Given the description of an element on the screen output the (x, y) to click on. 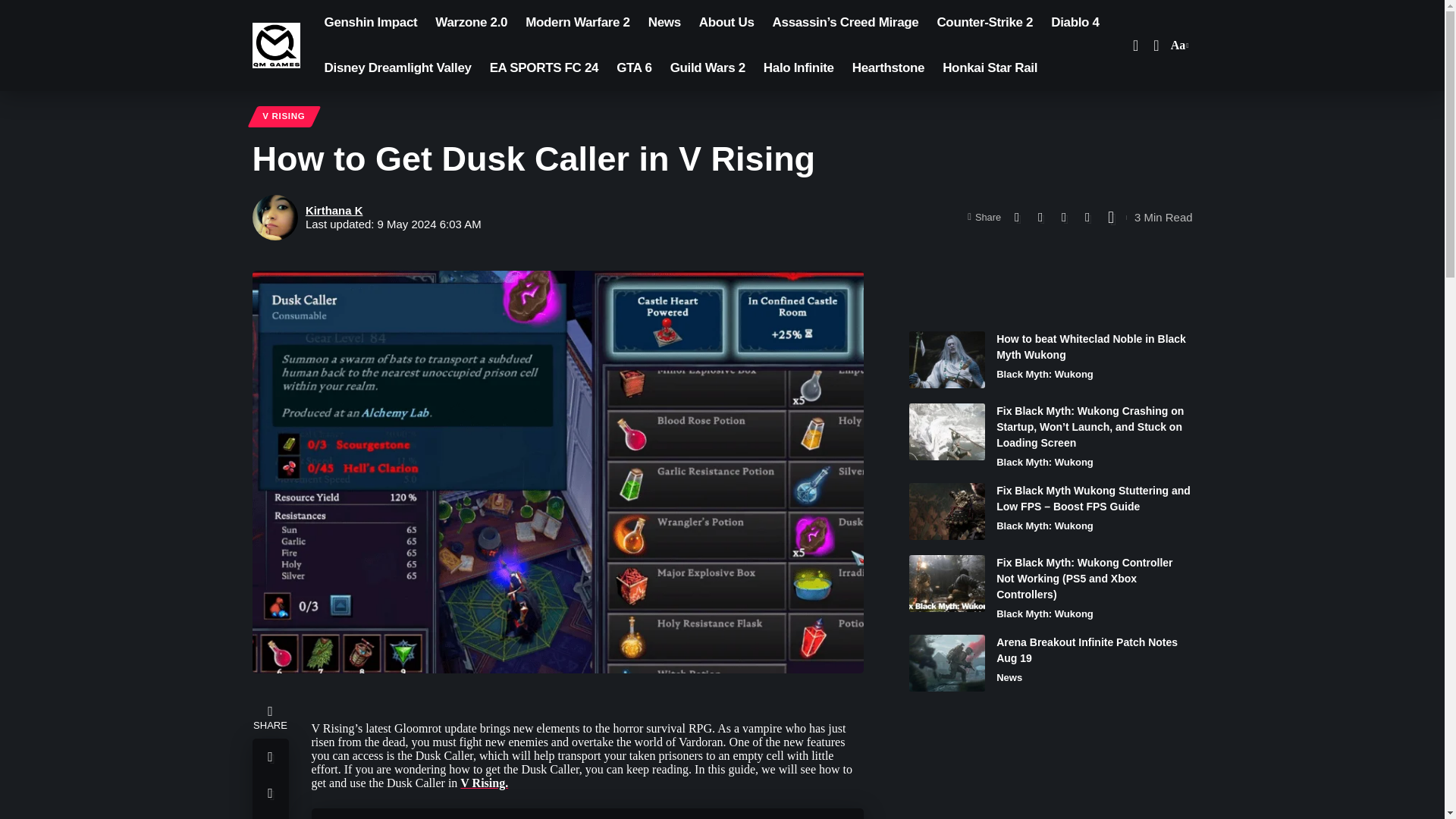
Diablo 4 (1178, 45)
Hearthstone (1075, 22)
Honkai Star Rail (888, 67)
Genshin Impact (989, 67)
News (370, 22)
How to beat Whiteclad Noble in Black Myth Wukong (664, 22)
V RISING (946, 359)
About Us (283, 116)
Modern Warfare 2 (726, 22)
